Given the description of an element on the screen output the (x, y) to click on. 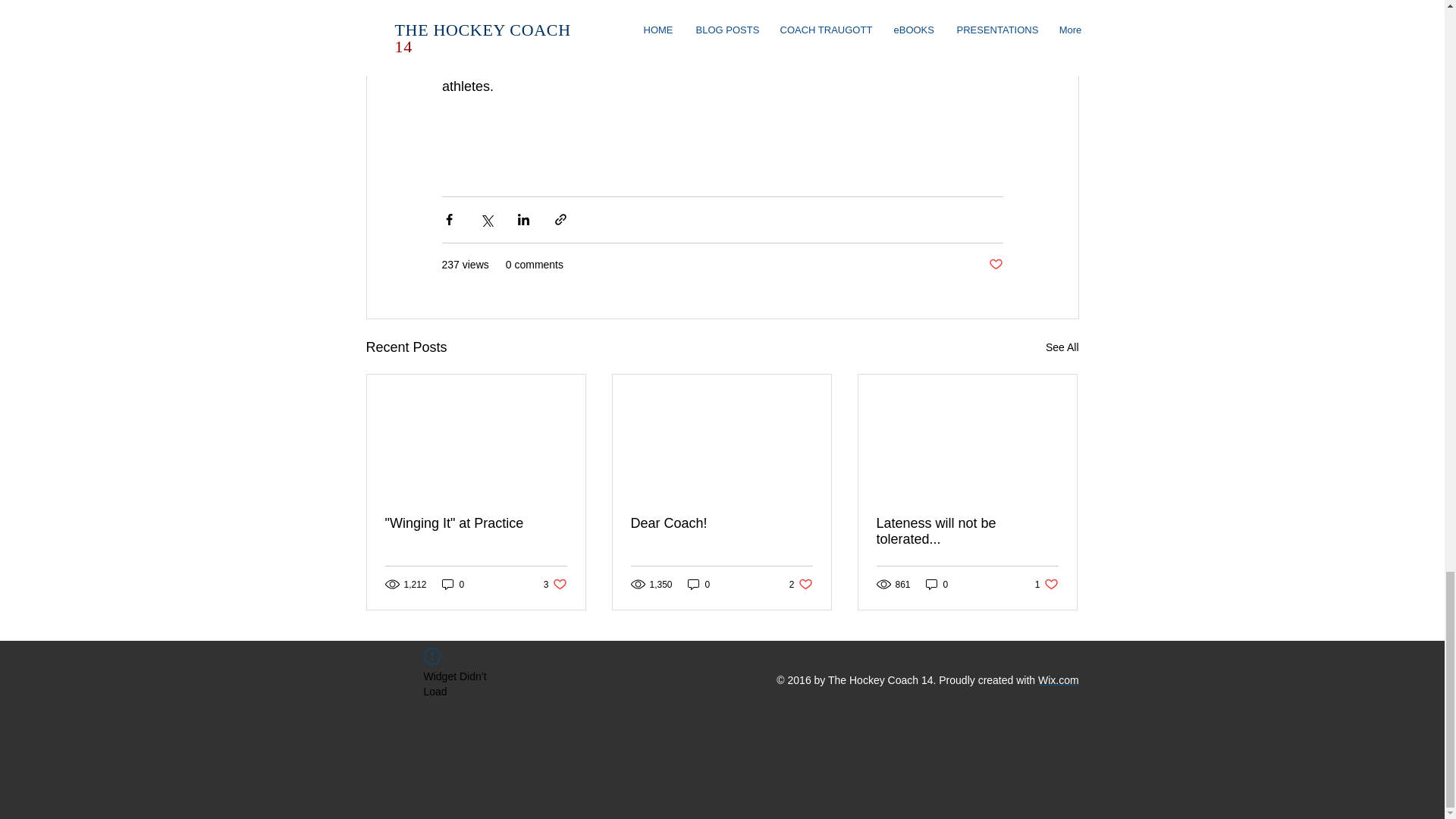
See All (1061, 347)
0 (698, 584)
Wix.com (555, 584)
Dear Coach! (1058, 680)
Post not marked as liked (800, 584)
"Winging It" at Practice (721, 523)
Lateness will not be tolerated... (995, 264)
0 (476, 523)
0 (967, 531)
